Given the description of an element on the screen output the (x, y) to click on. 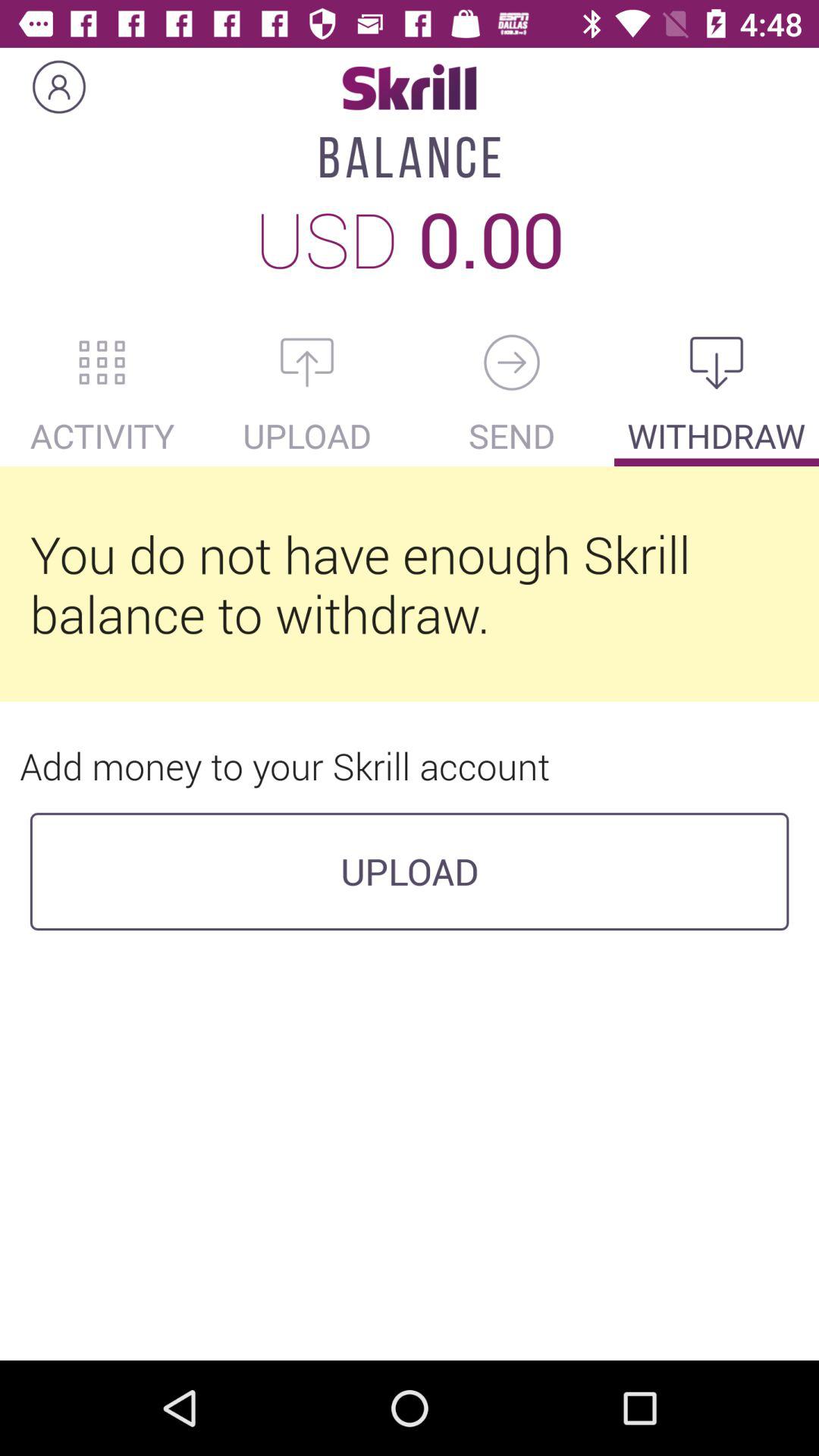
withdraw from balance (716, 362)
